Given the description of an element on the screen output the (x, y) to click on. 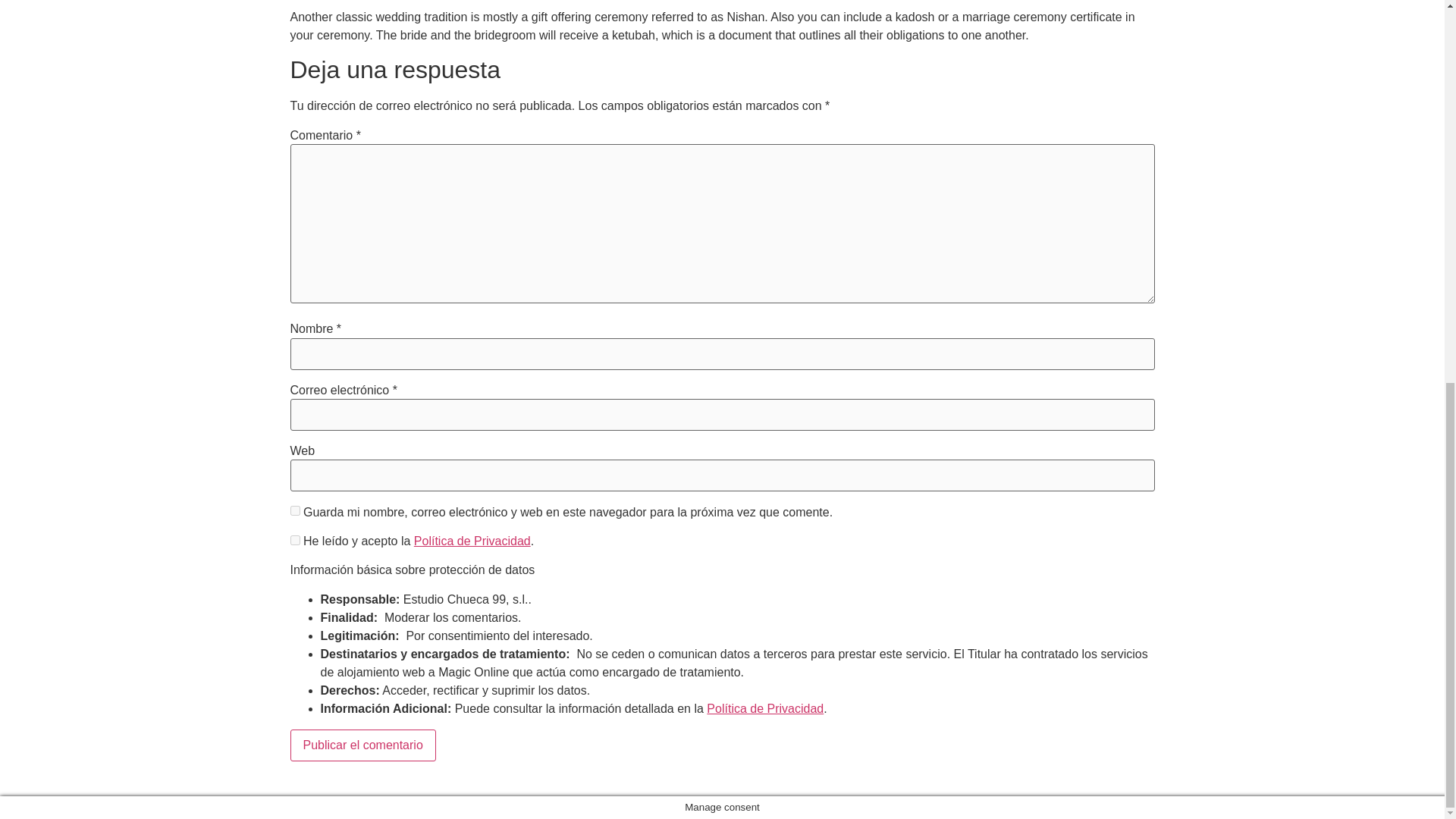
1 (294, 540)
Publicar el comentario (362, 745)
Publicar el comentario (362, 745)
yes (294, 510)
